Given the description of an element on the screen output the (x, y) to click on. 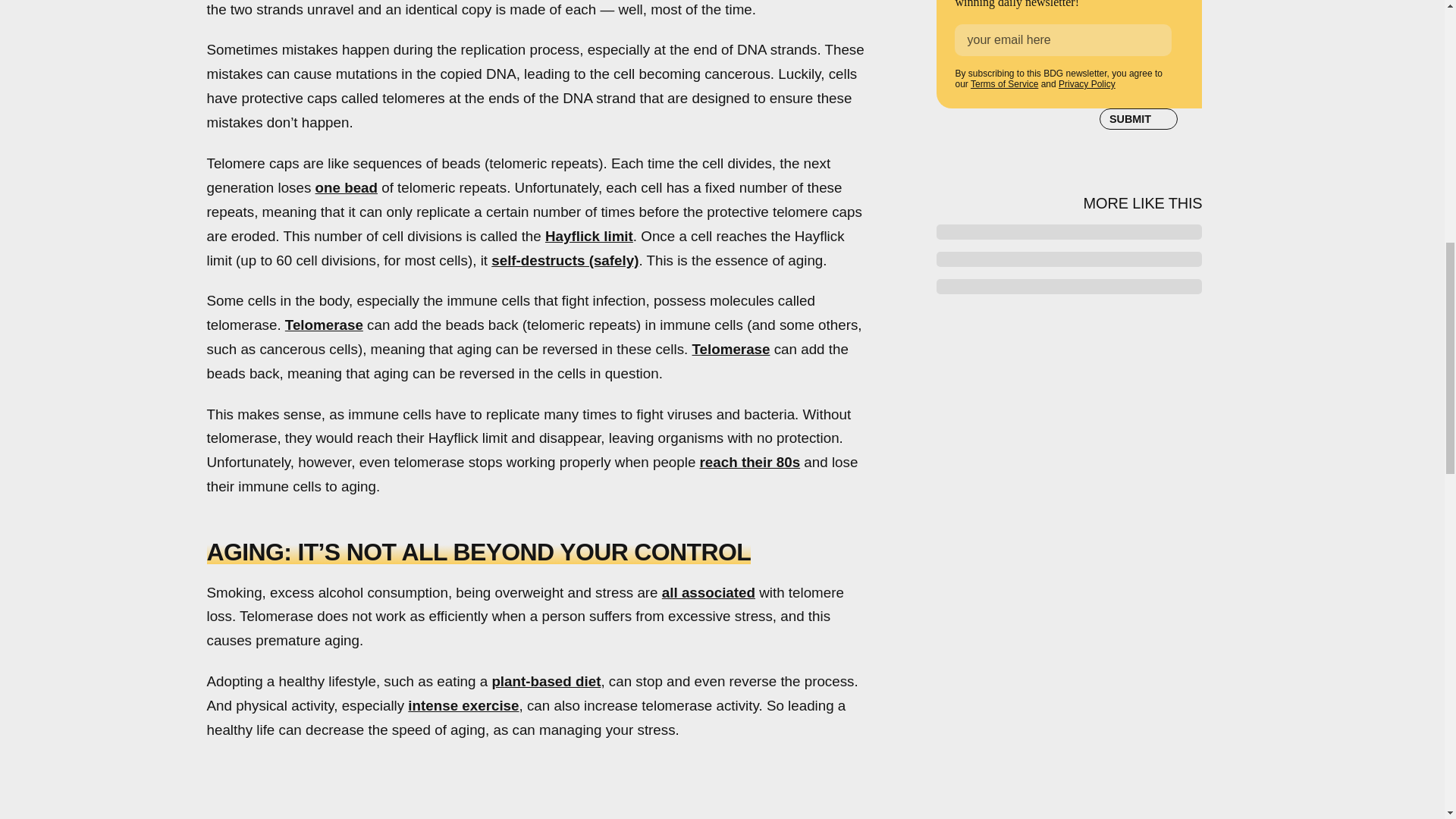
intense exercise (462, 705)
all associated (708, 592)
Privacy Policy (1086, 83)
plant-based diet (545, 681)
one bead (346, 187)
Hayflick limit (588, 236)
Telomerase (323, 324)
SUBMIT (1138, 118)
Terms of Service (1004, 83)
reach their 80s (750, 462)
Telomerase (730, 349)
